Given the description of an element on the screen output the (x, y) to click on. 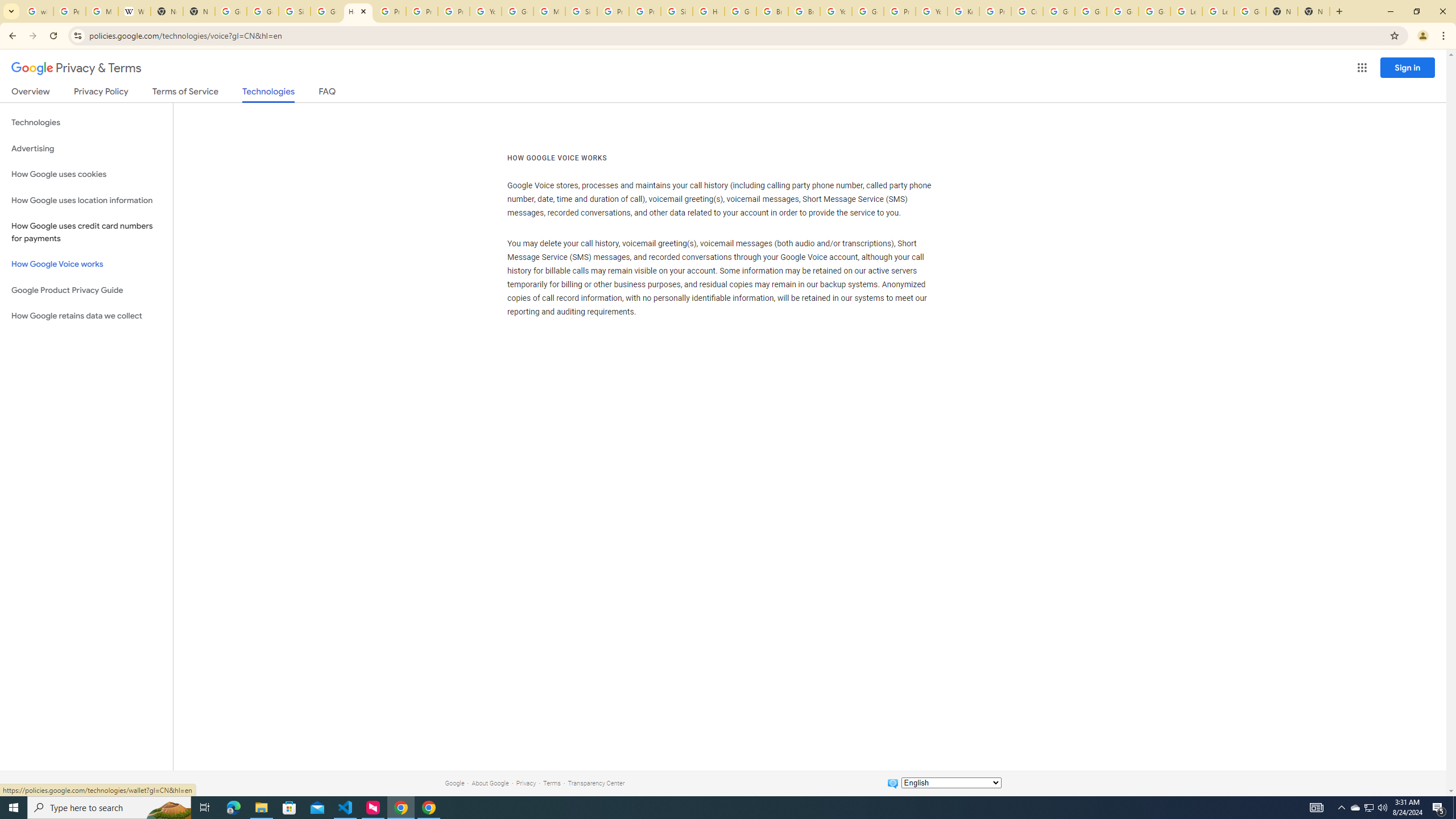
Wikipedia:Edit requests - Wikipedia (134, 11)
Personalization & Google Search results - Google Search Help (69, 11)
New Tab (1281, 11)
Google Product Privacy Guide (86, 289)
Google Account Help (1154, 11)
Google Account Help (517, 11)
YouTube (485, 11)
